Given the description of an element on the screen output the (x, y) to click on. 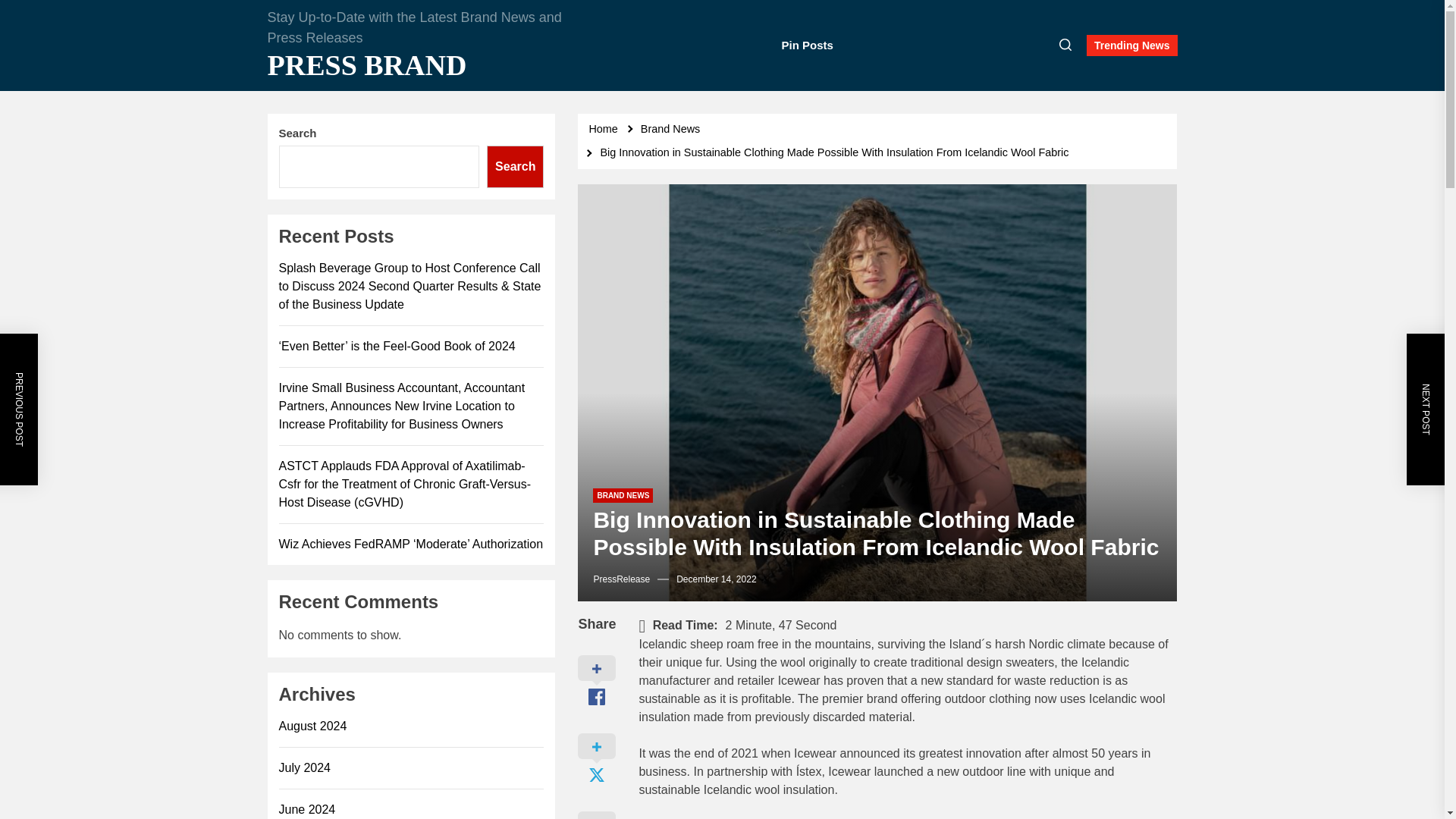
PRESS BRAND (418, 65)
Brand News (672, 128)
PressRelease (620, 579)
Home (605, 128)
BRAND NEWS (622, 495)
Pin Posts (806, 45)
Trending News (1131, 45)
